Given the description of an element on the screen output the (x, y) to click on. 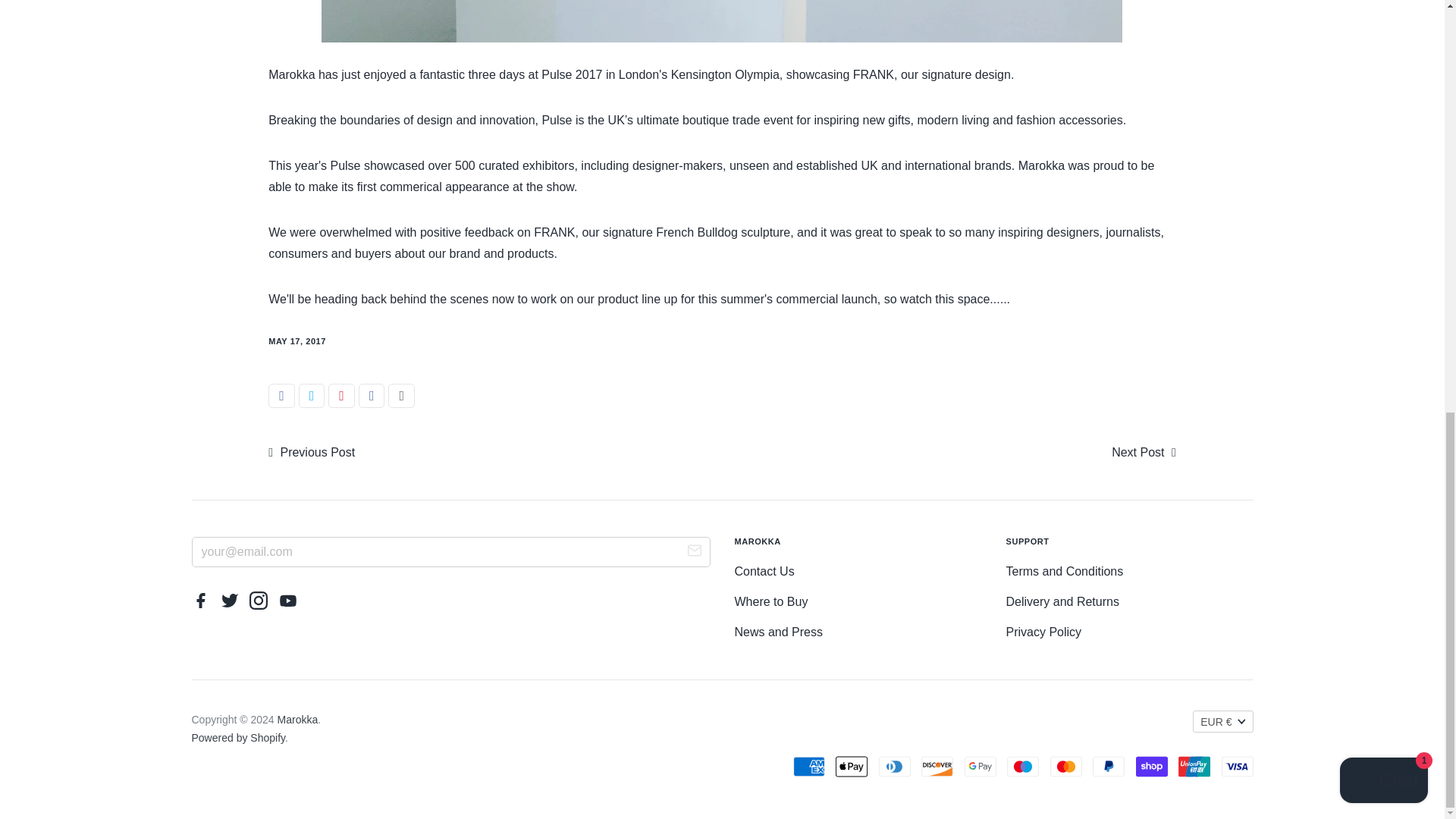
Apple Pay (851, 766)
Visa (1236, 766)
Discover (937, 766)
American Express (809, 766)
PayPal (1108, 766)
Diners Club (895, 766)
Mastercard (1065, 766)
Union Pay (1193, 766)
Shop Pay (1151, 766)
Maestro (1023, 766)
Google Pay (979, 766)
